Given the description of an element on the screen output the (x, y) to click on. 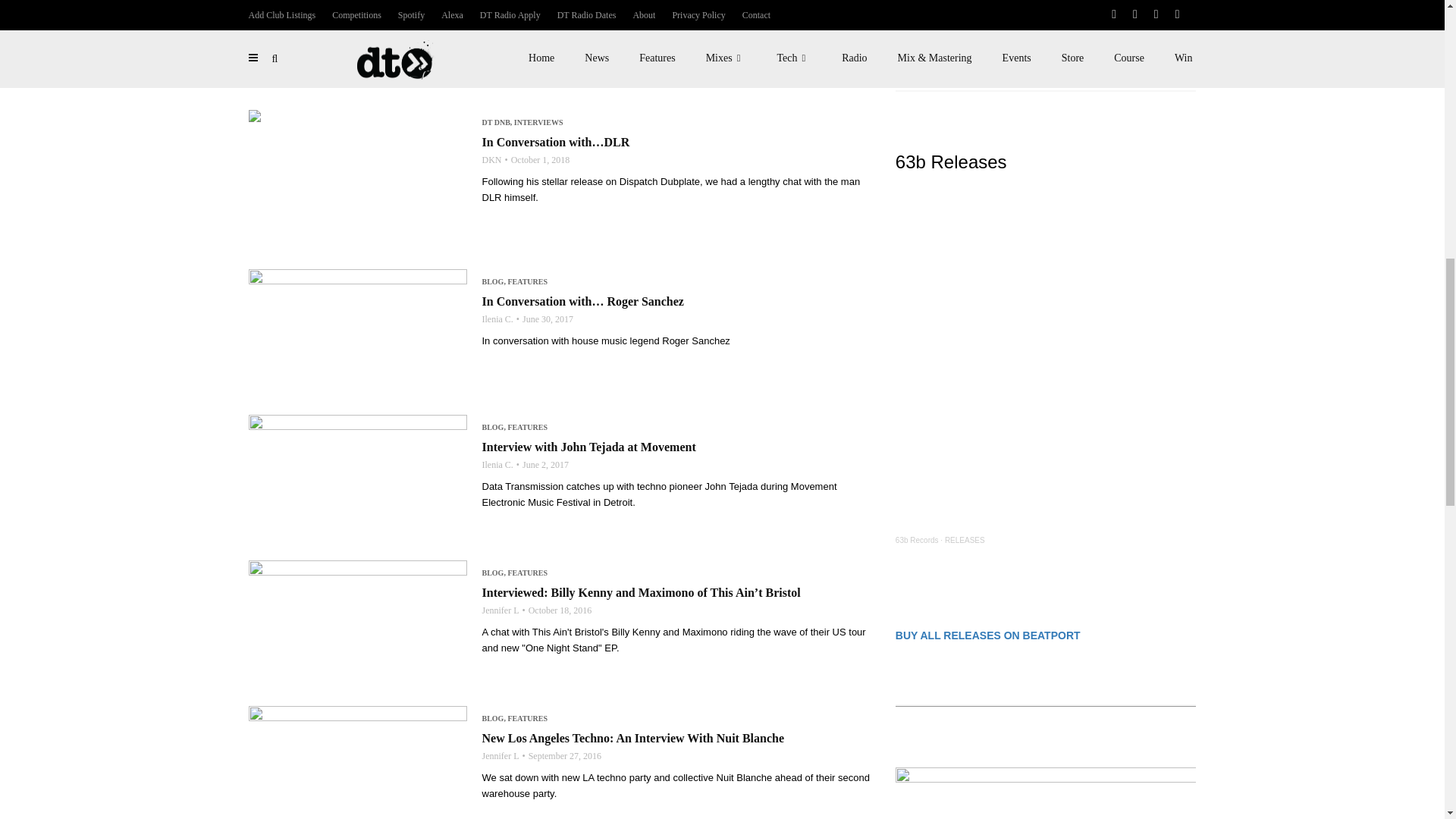
Data Transmission (926, 25)
RELEASES (964, 540)
63b Records (917, 540)
Official Releases (992, 25)
